Given the description of an element on the screen output the (x, y) to click on. 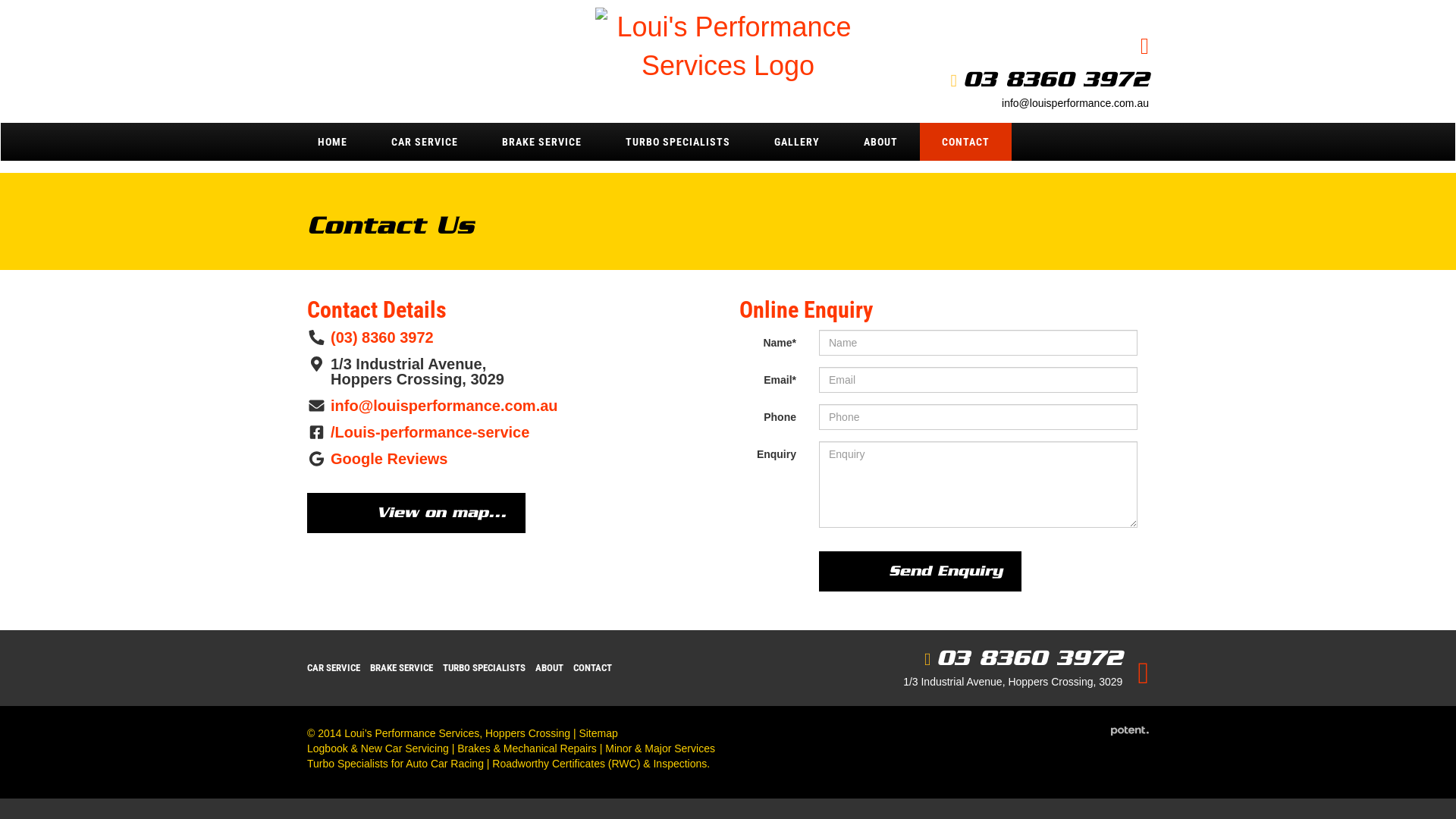
03 8360 3972 Element type: text (1055, 78)
BRAKE SERVICE Element type: text (401, 667)
/Louis-performance-service Element type: text (429, 431)
1/3 Industrial Avenue, Hoppers Crossing, 3029 Element type: text (1012, 681)
HOME Element type: text (332, 141)
info@louisperformance.com.au Element type: text (1074, 103)
ABOUT Element type: text (880, 141)
TURBO SPECIALISTS Element type: text (677, 141)
View on map... Element type: text (416, 512)
CONTACT Element type: text (965, 141)
(03) 8360 3972 Element type: text (381, 337)
GALLERY Element type: text (796, 141)
Google Reviews Element type: text (389, 458)
BRAKE SERVICE Element type: text (541, 141)
03 8360 3972 Element type: text (1029, 657)
CAR SERVICE Element type: text (424, 141)
CAR SERVICE Element type: text (333, 667)
ABOUT Element type: text (549, 667)
TURBO SPECIALISTS Element type: text (483, 667)
Sitemap Element type: text (597, 733)
CONTACT Element type: text (592, 667)
info@louisperformance.com.au Element type: text (444, 405)
Send Enquiry Element type: text (920, 571)
